Given the description of an element on the screen output the (x, y) to click on. 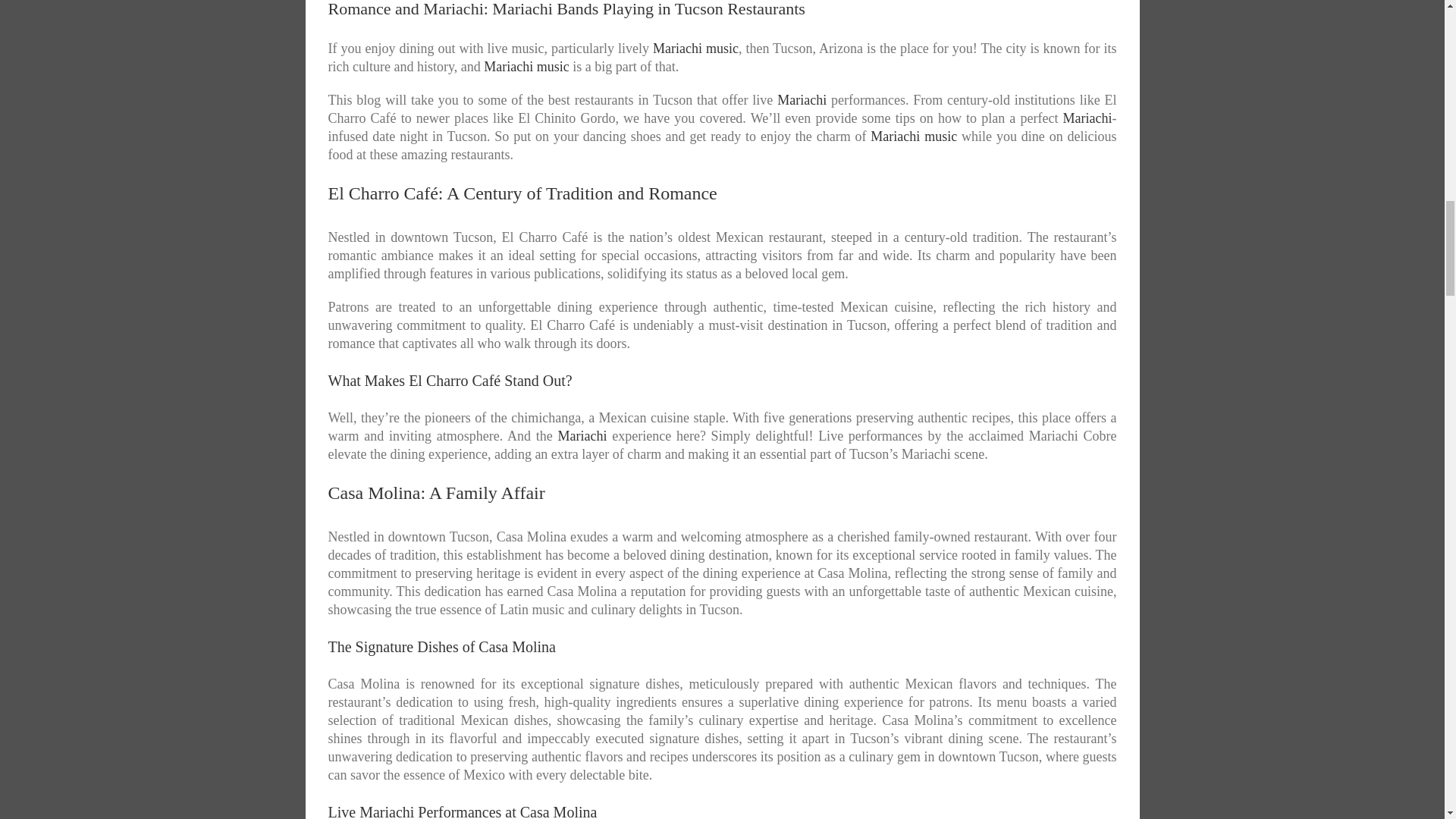
Posts tagged with Mariachi music (526, 66)
Posts tagged with mariachi (1087, 118)
Posts tagged with mariachi (582, 435)
Mariachi music (695, 48)
Mariachi (582, 435)
Posts tagged with mariachi (802, 99)
Mariachi music (913, 136)
Posts tagged with Mariachi music (913, 136)
Mariachi (802, 99)
Posts tagged with Mariachi music (695, 48)
